Given the description of an element on the screen output the (x, y) to click on. 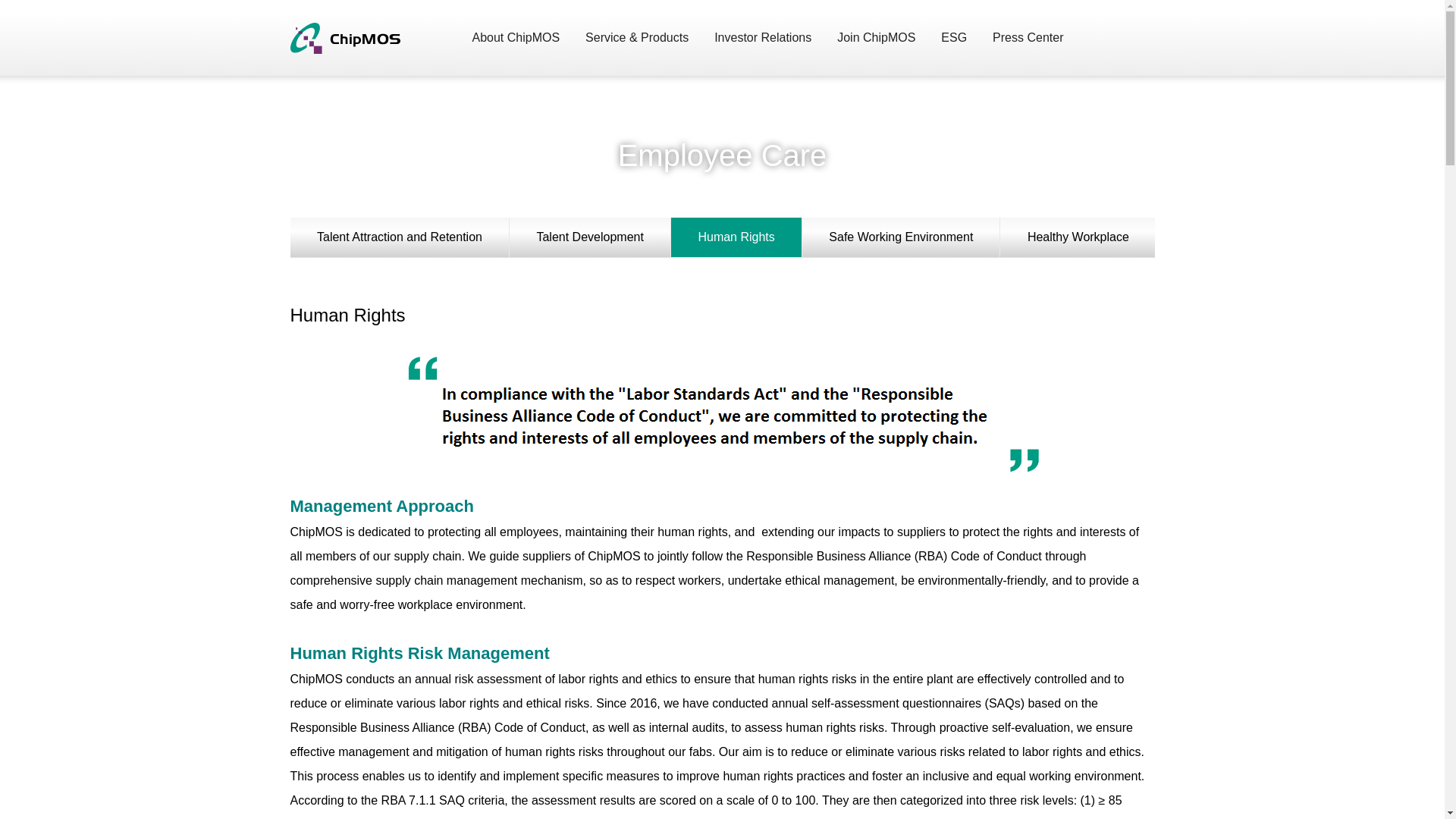
About ChipMOS (515, 47)
Join ChipMOS (876, 47)
Investor Relations (762, 47)
ChipMOS TECHNOLOGIES INC. (335, 37)
